Given the description of an element on the screen output the (x, y) to click on. 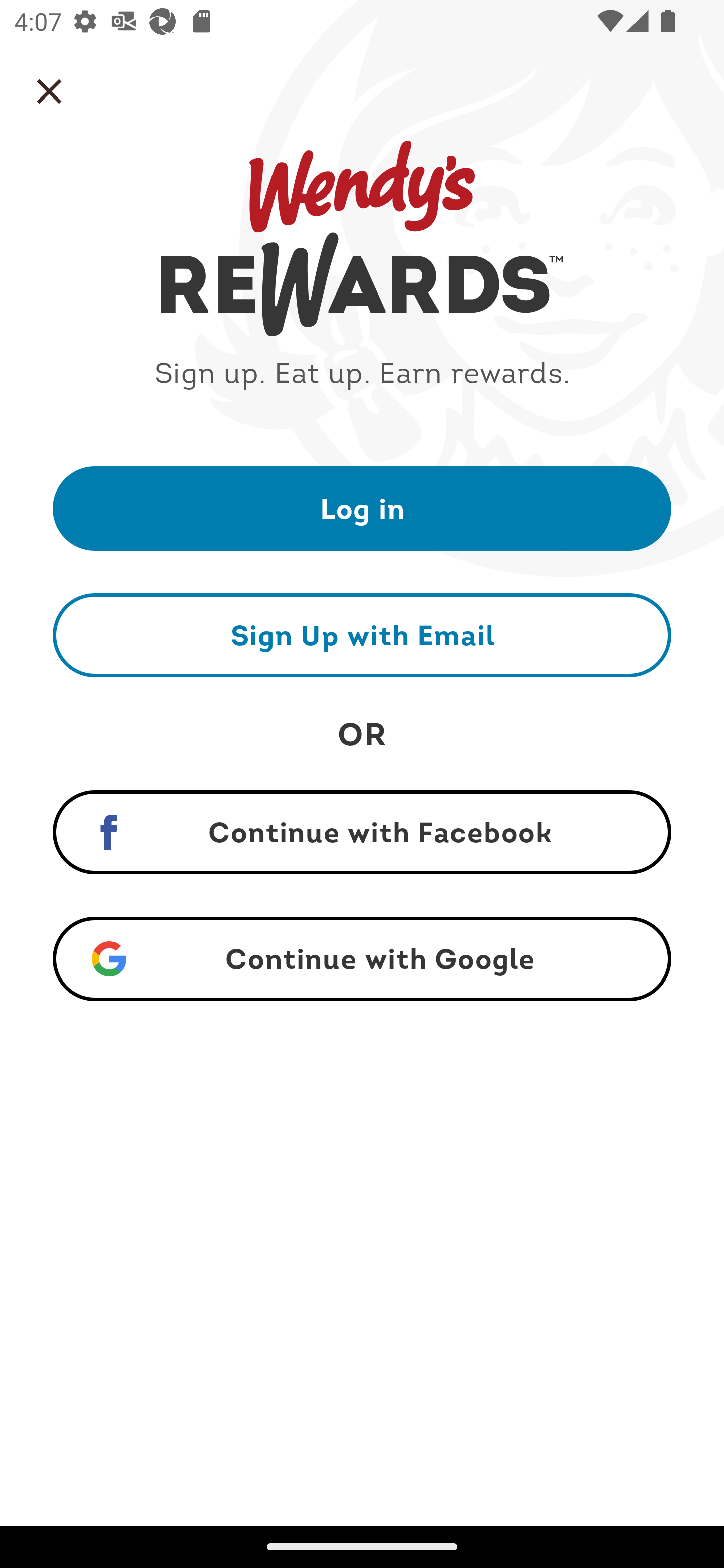
close (49, 91)
Log in (361, 507)
Sign Up with Email (361, 634)
Continue with Facebook (361, 832)
Continue with Google (361, 958)
